Given the description of an element on the screen output the (x, y) to click on. 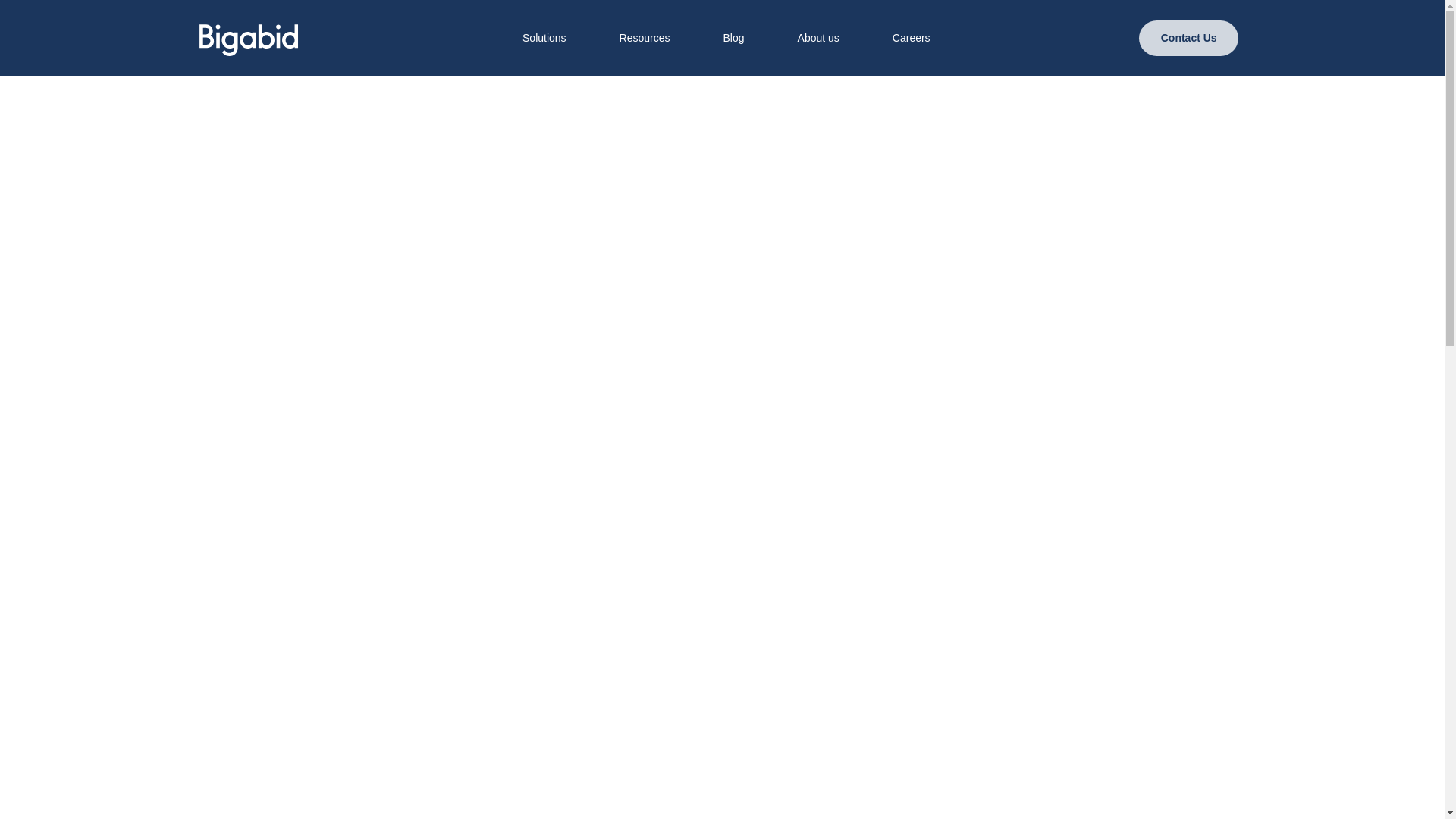
Resources (644, 37)
Careers (911, 37)
Contact Us (1188, 37)
About us (818, 37)
Solutions (544, 37)
Blog (733, 37)
